Given the description of an element on the screen output the (x, y) to click on. 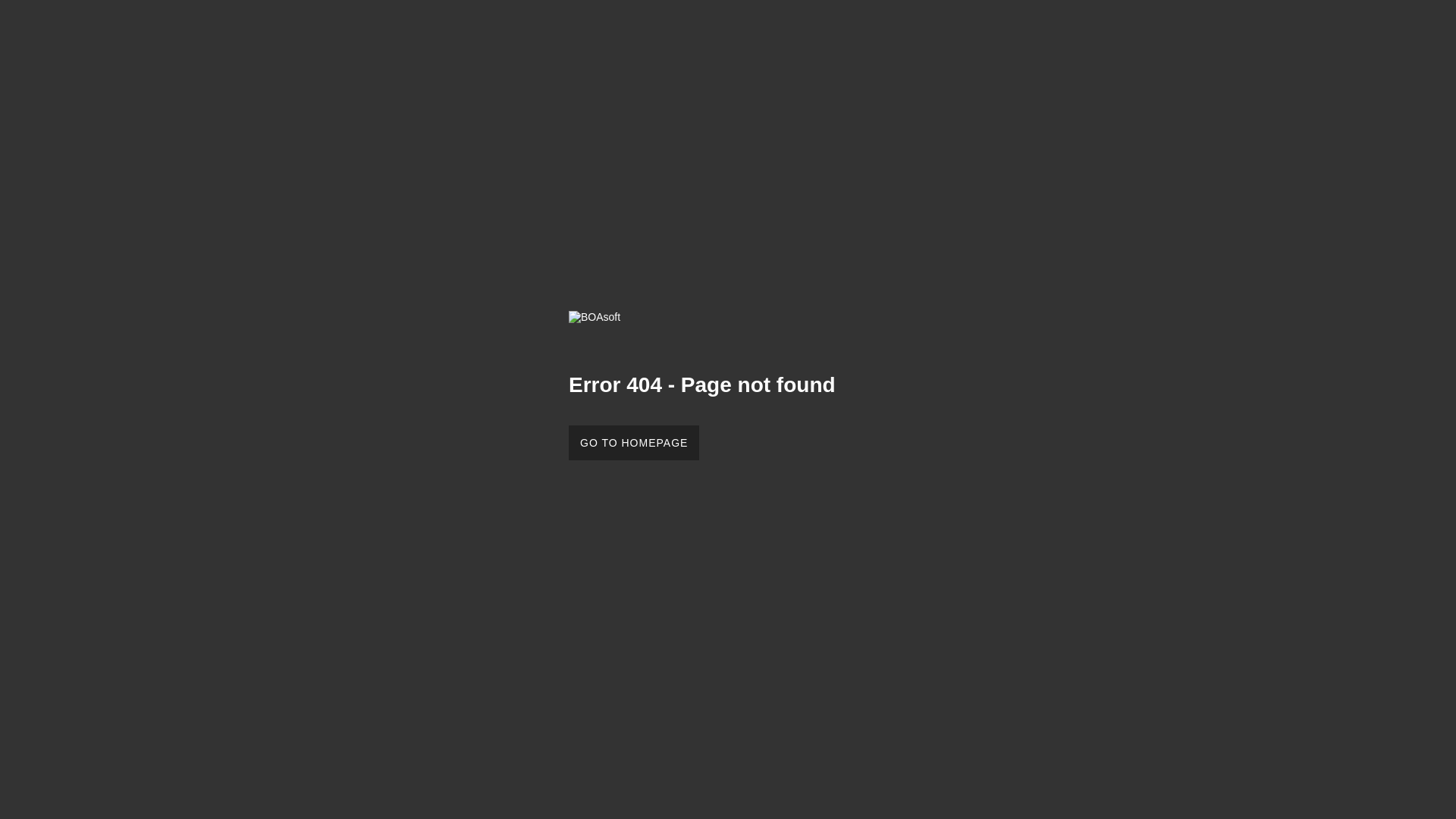
GO TO HOMEPAGE Element type: text (633, 442)
